Given the description of an element on the screen output the (x, y) to click on. 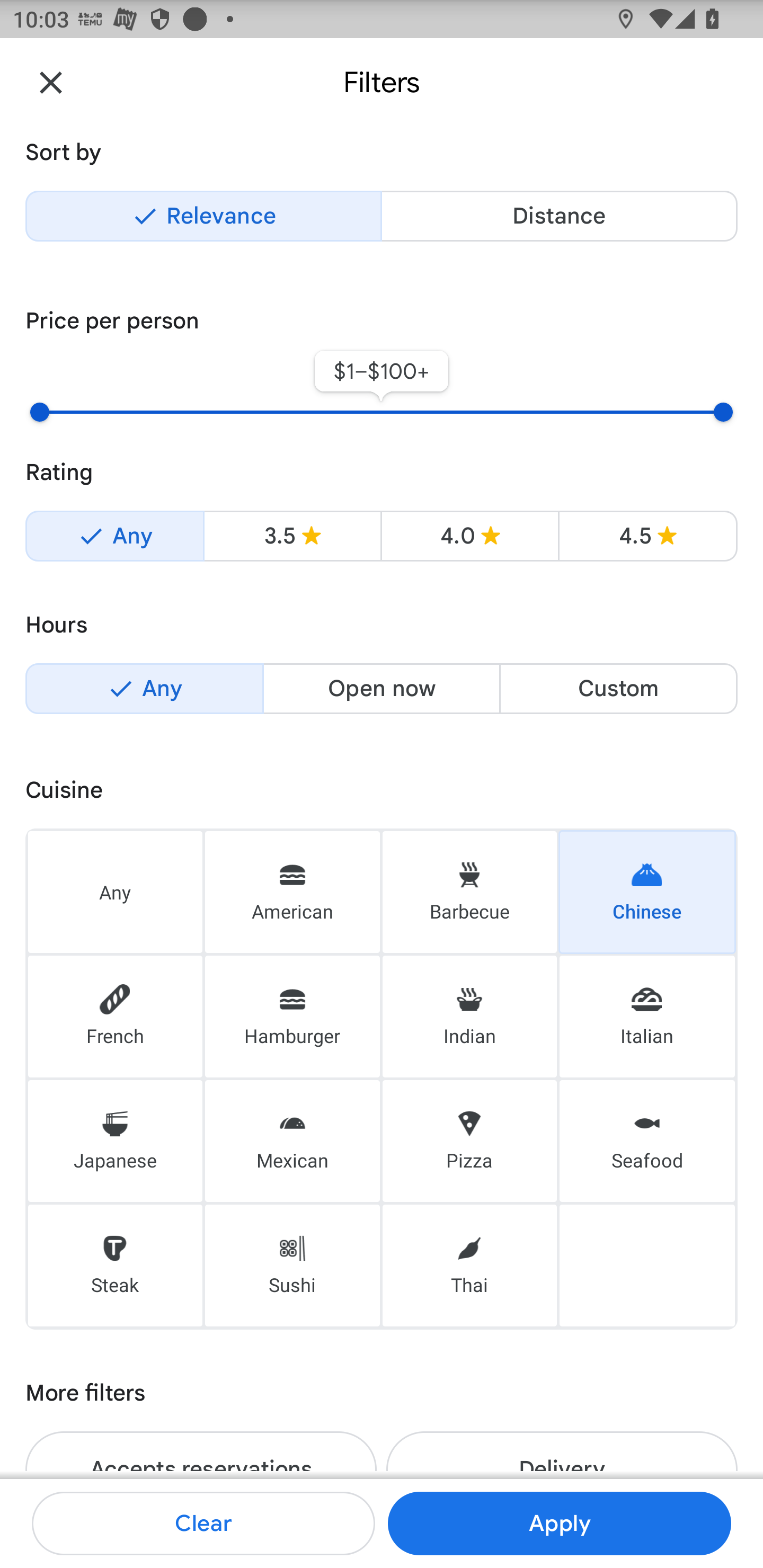
Close menu (50, 81)
Relevance (203, 216)
Distance (558, 216)
Any (114, 535)
3.5 stars (292, 535)
4.0 stars (469, 535)
4.5 stars (647, 535)
Any (144, 688)
Open now (381, 688)
Custom (618, 688)
Any (114, 891)
American (291, 891)
Barbecue (469, 891)
Chinese (647, 891)
French (114, 1016)
Hamburger (291, 1016)
Indian (469, 1016)
Italian (647, 1016)
Japanese (114, 1140)
Mexican (291, 1140)
Pizza (469, 1140)
Seafood (647, 1140)
Steak (114, 1266)
Sushi (291, 1266)
Thai (469, 1266)
Clear Clear Clear (203, 1522)
Apply Apply Apply (558, 1522)
